Given the description of an element on the screen output the (x, y) to click on. 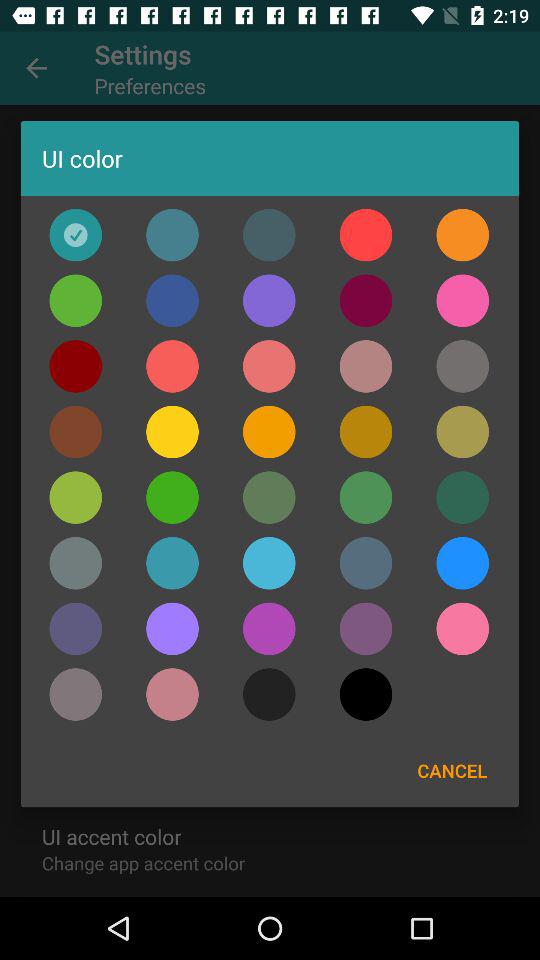
select gray color (462, 366)
